Given the description of an element on the screen output the (x, y) to click on. 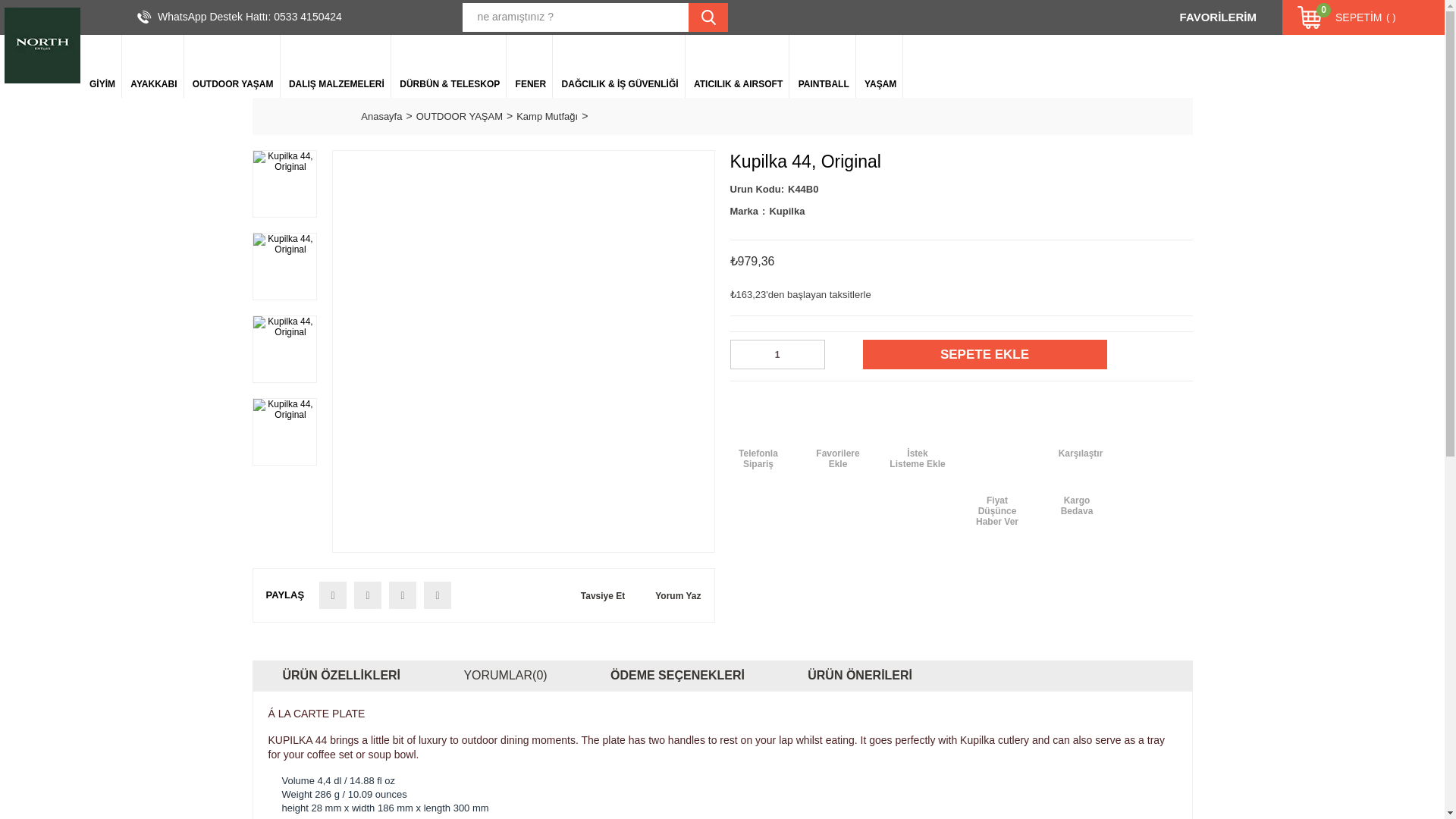
AYAKKABI (153, 66)
1 (776, 354)
Ara (708, 17)
Sepete Ekle (984, 354)
Ara (708, 17)
